Given the description of an element on the screen output the (x, y) to click on. 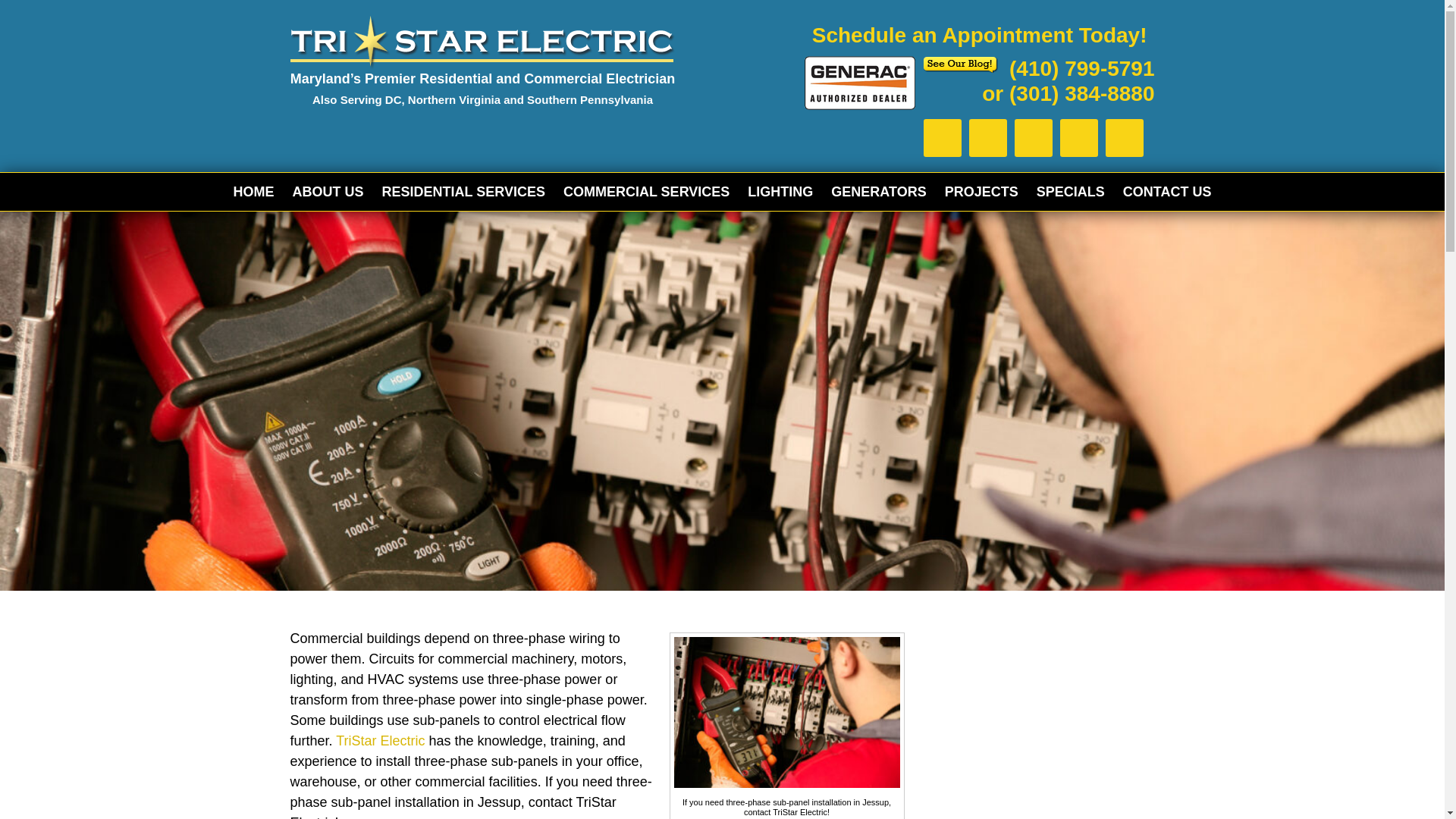
RESIDENTIAL SERVICES (463, 191)
COMMERCIAL SERVICES (646, 191)
LIGHTING (780, 191)
Tri Star Electric (482, 42)
HOME (253, 191)
ABOUT US (327, 191)
